Given the description of an element on the screen output the (x, y) to click on. 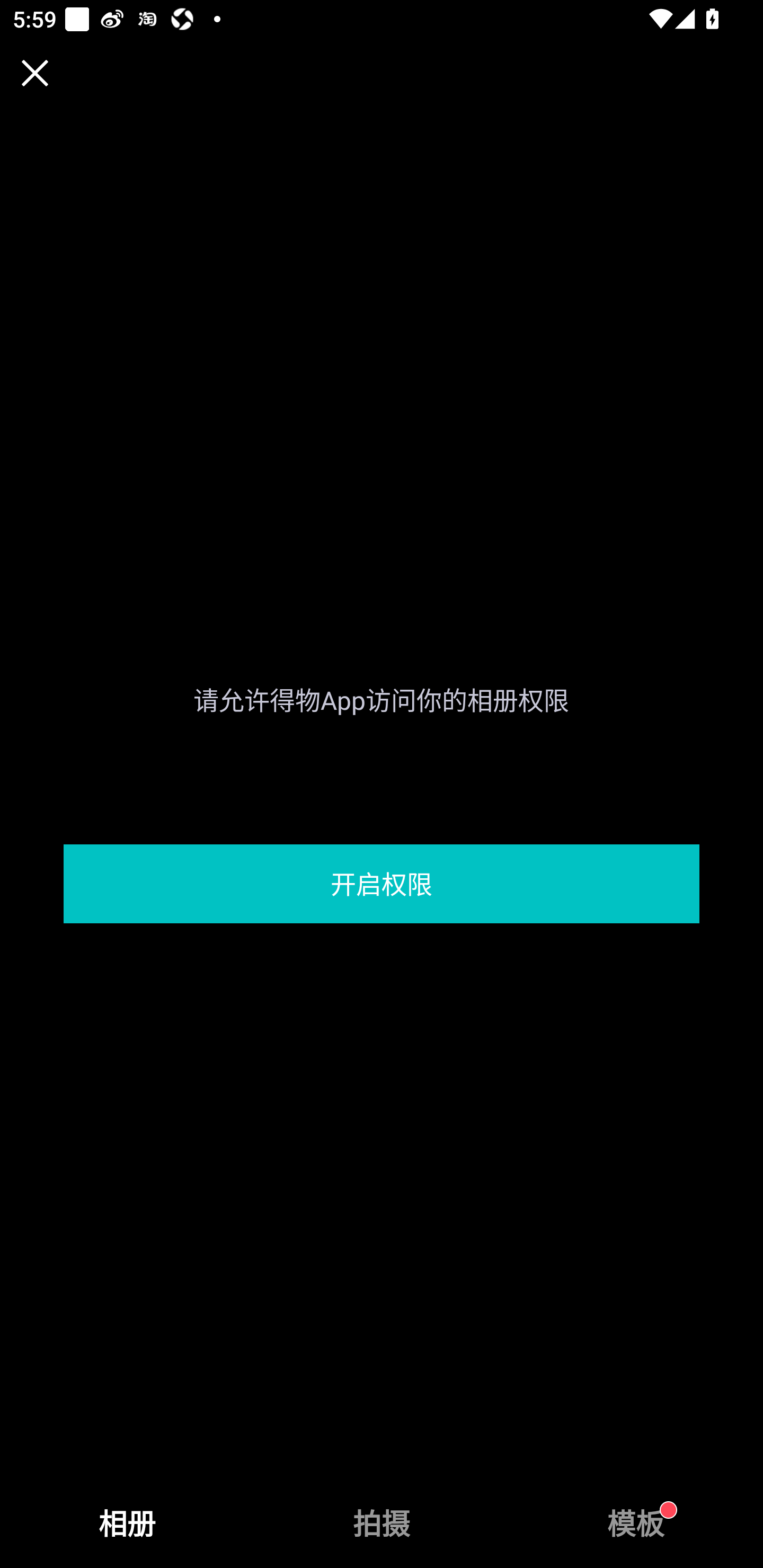
开启权限 (381, 884)
相册 (127, 1523)
拍摄 (381, 1523)
模板 (635, 1523)
